Given the description of an element on the screen output the (x, y) to click on. 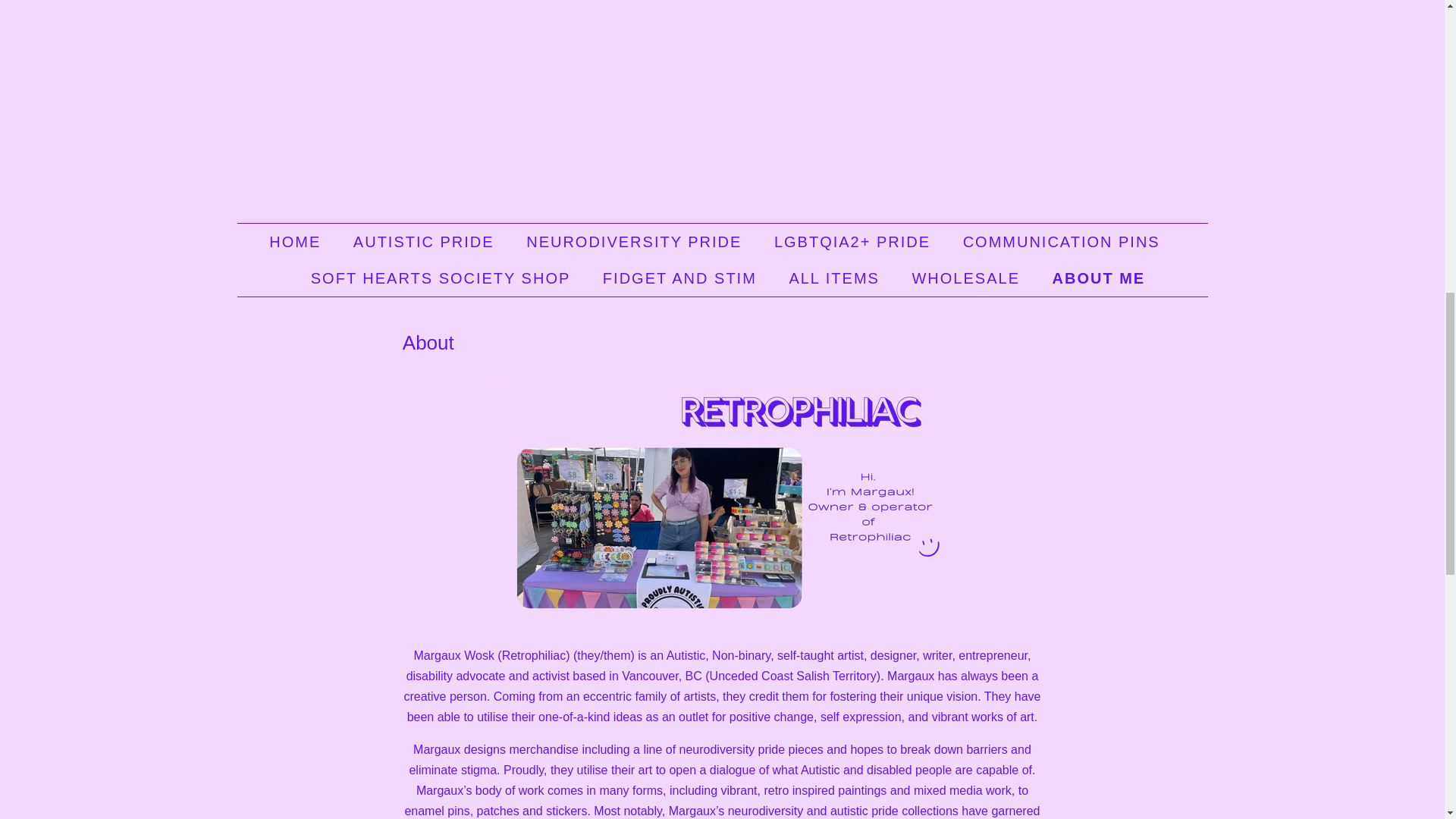
AUTISTIC PRIDE (425, 241)
SOFT HEARTS SOCIETY SHOP (442, 278)
FIDGET AND STIM (681, 278)
ABOUT ME (1093, 278)
NEURODIVERSITY PRIDE (636, 241)
ALL ITEMS (836, 278)
WHOLESALE (966, 278)
HOME (302, 241)
COMMUNICATION PINS (1063, 241)
